Given the description of an element on the screen output the (x, y) to click on. 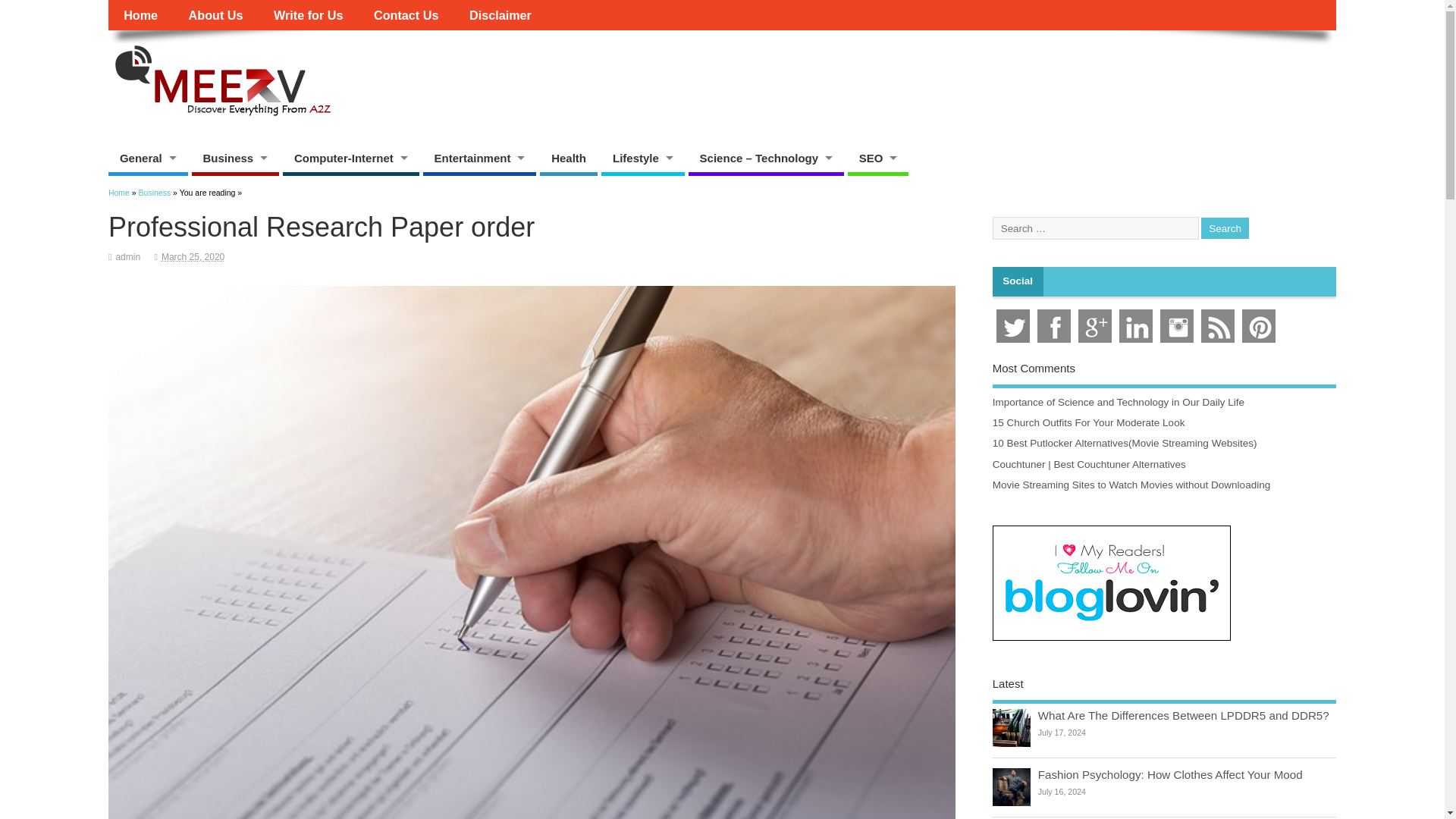
Health (568, 158)
Search (1225, 228)
Contact Us (406, 15)
Posts by admin (127, 256)
Disclaimer (500, 15)
Business (234, 158)
About Us (215, 15)
General (147, 158)
Home (140, 15)
Lifestyle (642, 158)
Write for Us (308, 15)
Entertainment (480, 158)
Search (1225, 228)
Computer-Internet (350, 158)
